Given the description of an element on the screen output the (x, y) to click on. 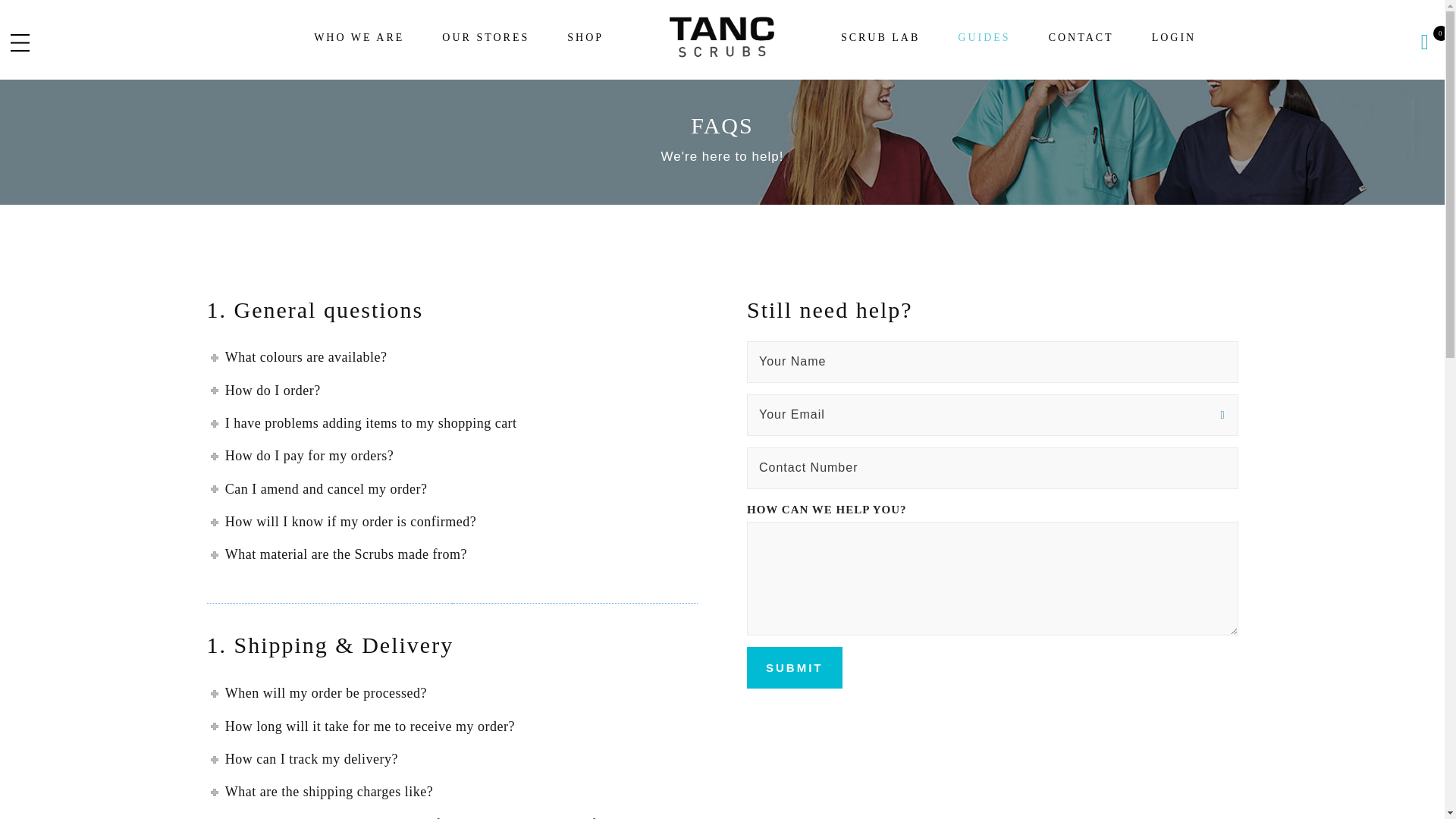
SCRUB LAB (880, 37)
0 (1425, 40)
GUIDES (984, 37)
WHO WE ARE (359, 37)
SHOP (585, 37)
CONTACT (1080, 37)
View your shopping cart (1425, 40)
OUR STORES (485, 37)
LOGIN (1173, 37)
